Given the description of an element on the screen output the (x, y) to click on. 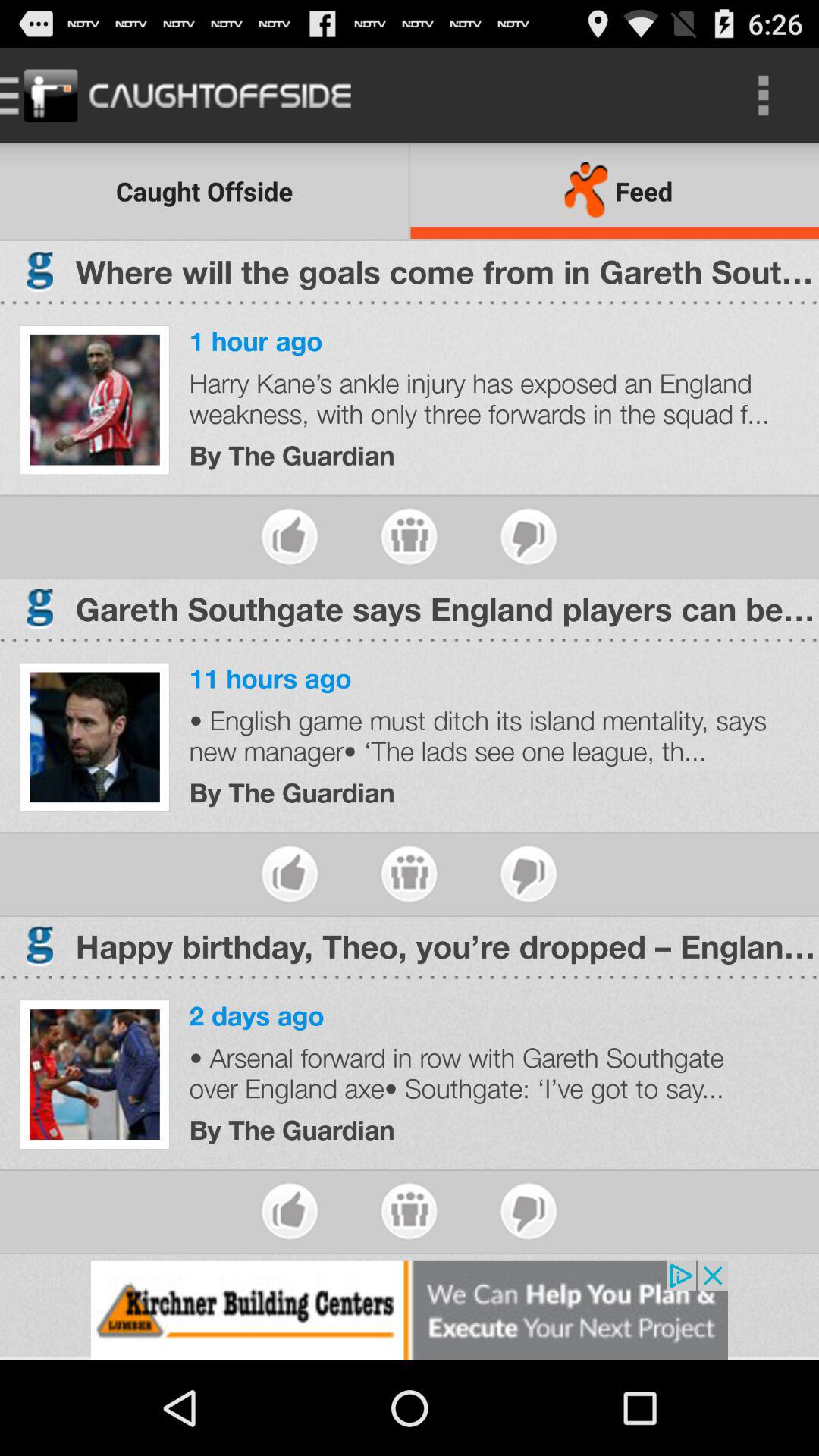
like symbol (289, 1211)
